Given the description of an element on the screen output the (x, y) to click on. 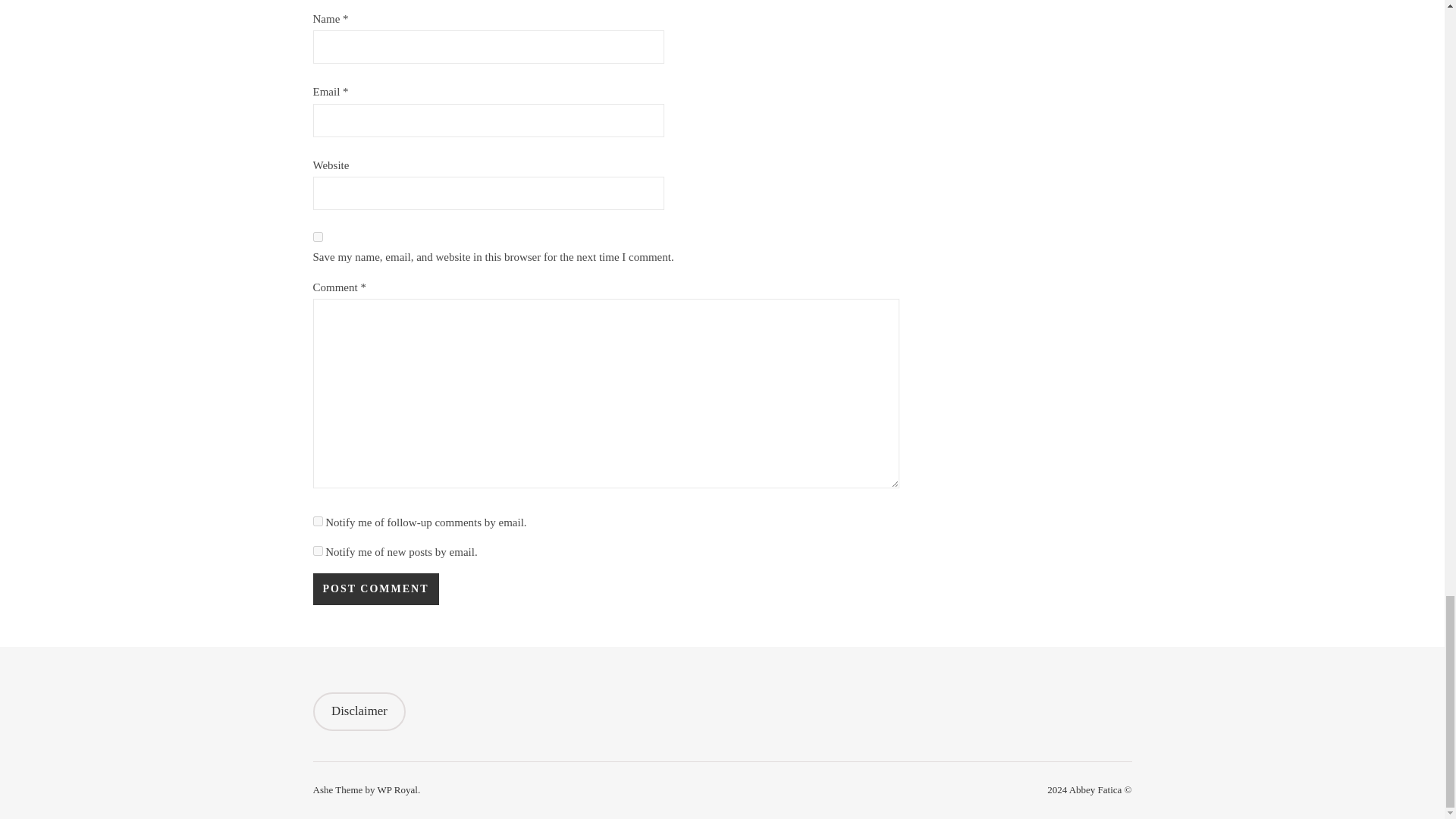
yes (317, 236)
Post Comment (375, 589)
subscribe (317, 551)
subscribe (317, 521)
